Given the description of an element on the screen output the (x, y) to click on. 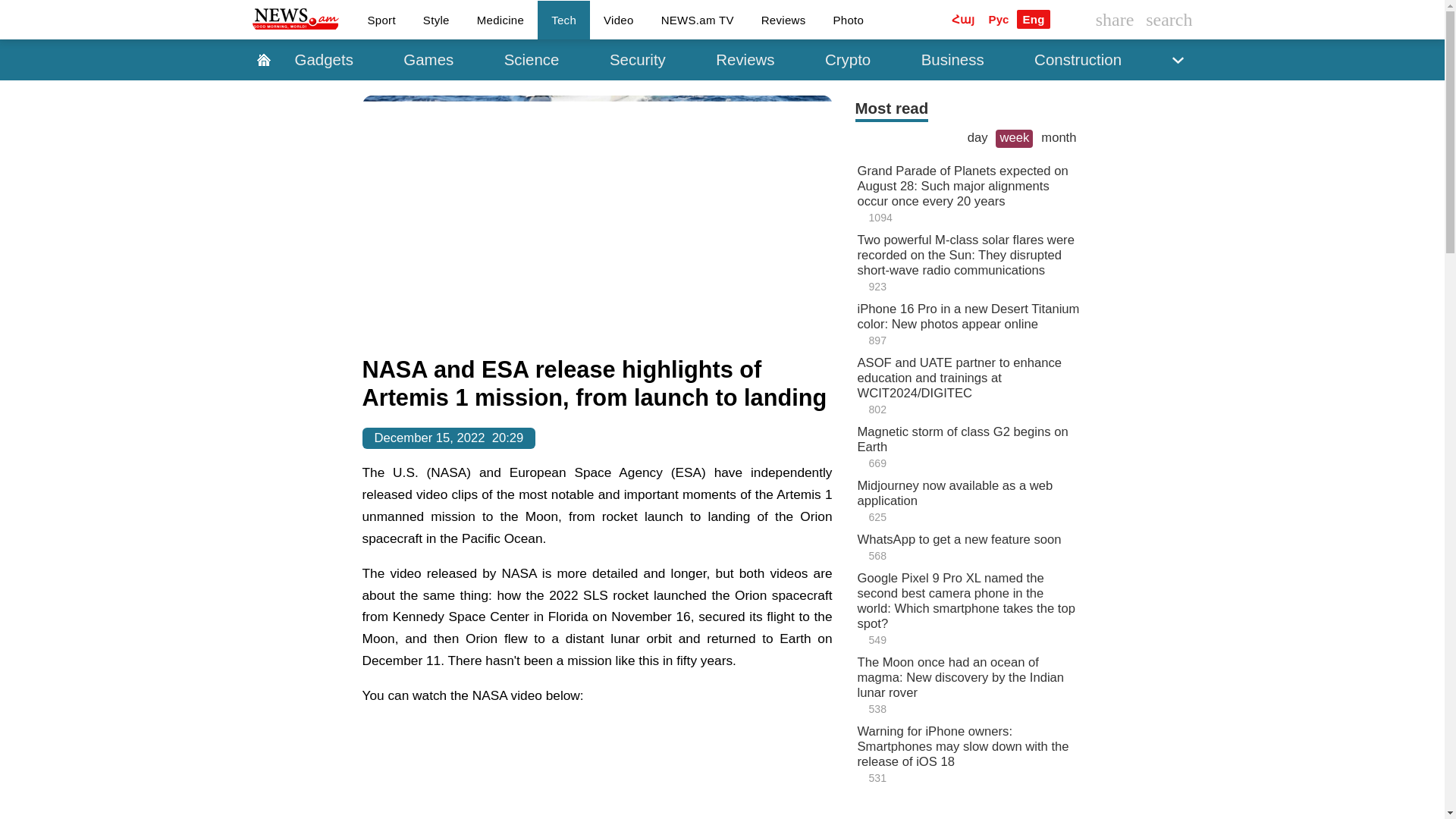
Eng (1032, 18)
Science (532, 59)
NEWS.am TV (697, 19)
Style (436, 19)
Eng (1032, 18)
Medicine (500, 19)
Crypto (847, 59)
Reviews (783, 19)
Business (951, 59)
Gadgets (323, 59)
